Given the description of an element on the screen output the (x, y) to click on. 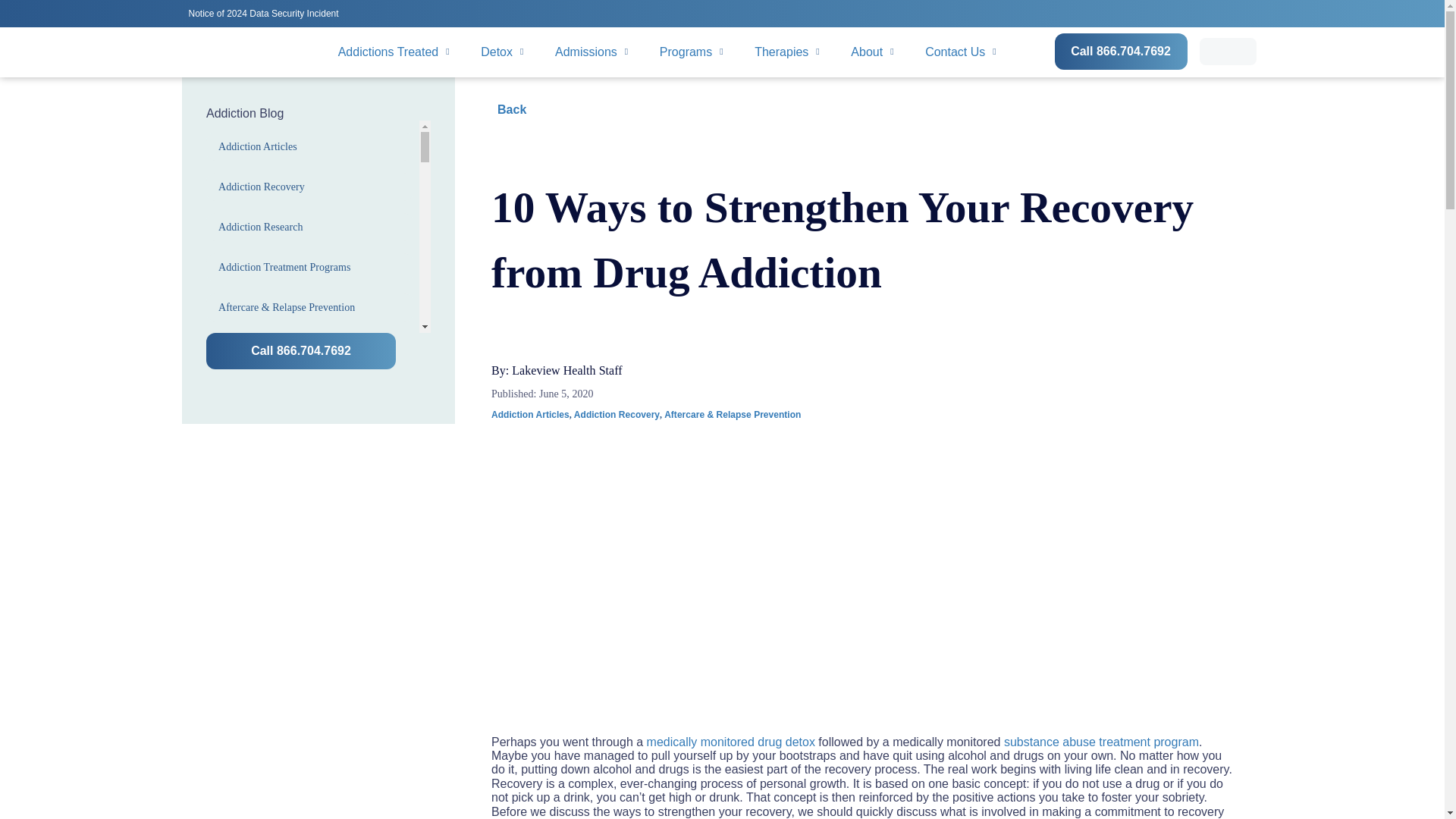
Detox (502, 51)
Therapies (787, 51)
Programs (691, 51)
Admissions (591, 51)
Notice of 2024 Data Security Incident (265, 12)
Addictions Treated (394, 51)
